Given the description of an element on the screen output the (x, y) to click on. 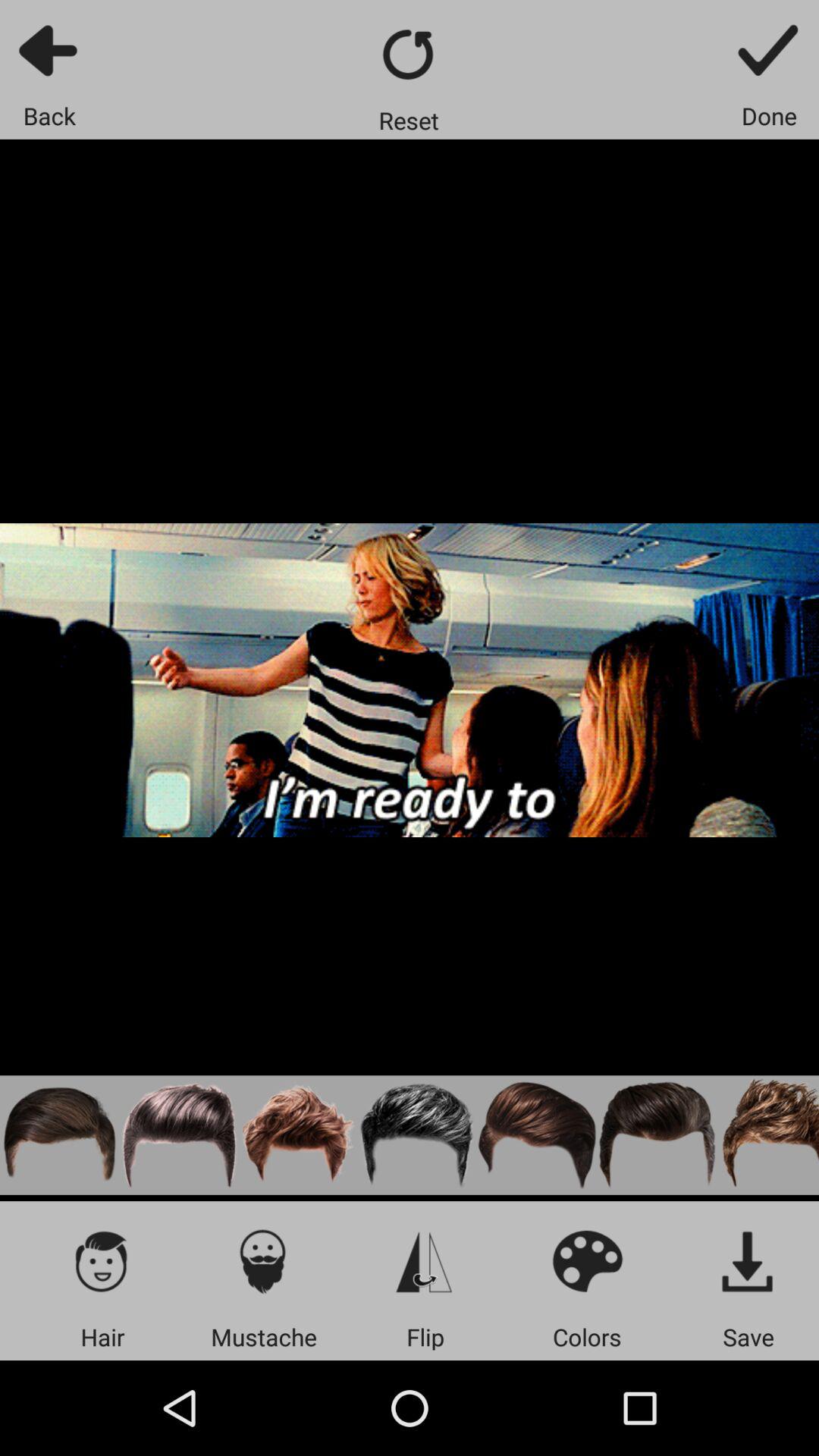
edit hairstyle (298, 1134)
